Given the description of an element on the screen output the (x, y) to click on. 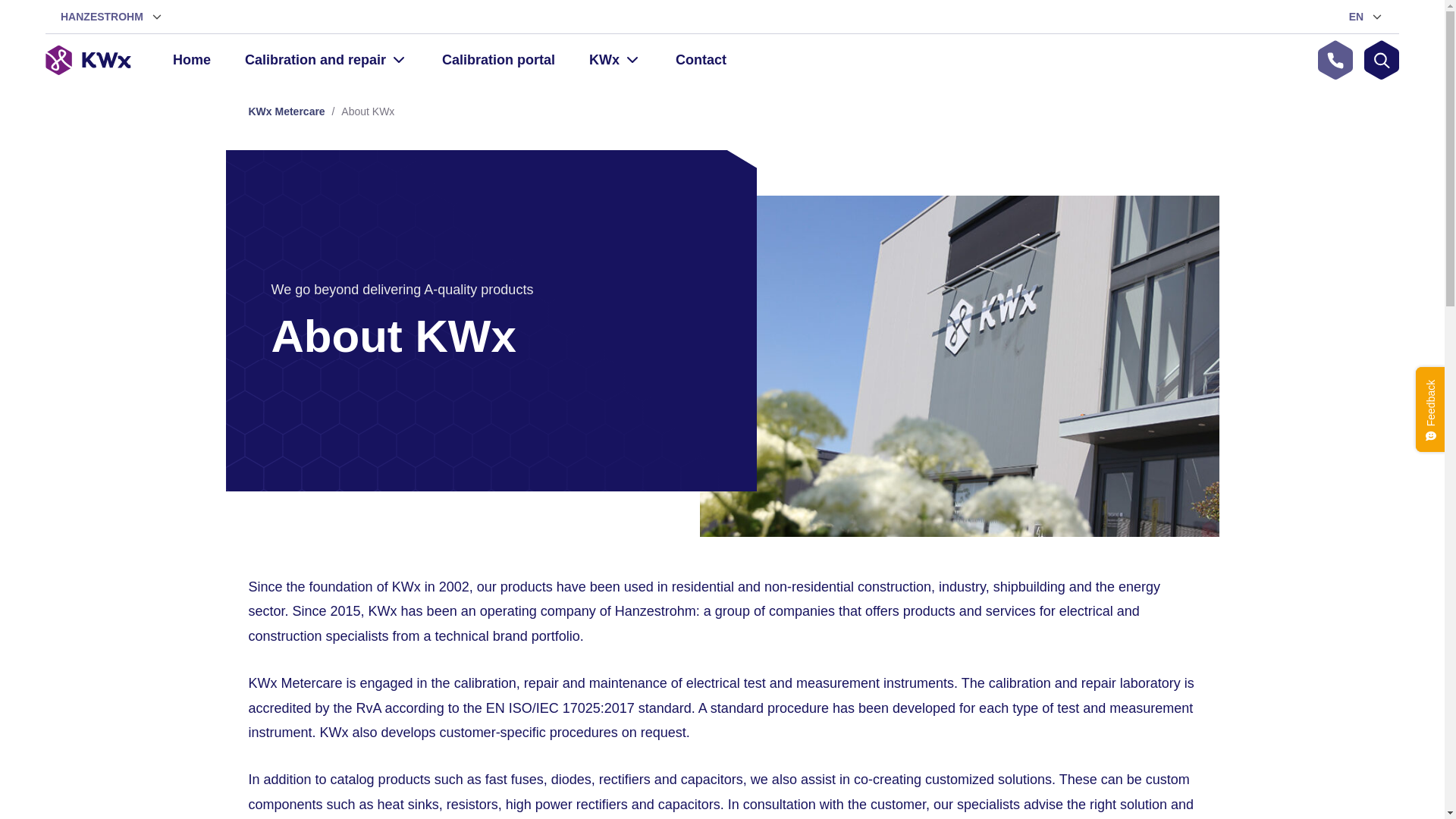
Calibration portal (498, 60)
Home (191, 60)
EN (1365, 16)
HANZESTROHM (111, 16)
Calibration and repair (325, 60)
KWx (615, 60)
